Given the description of an element on the screen output the (x, y) to click on. 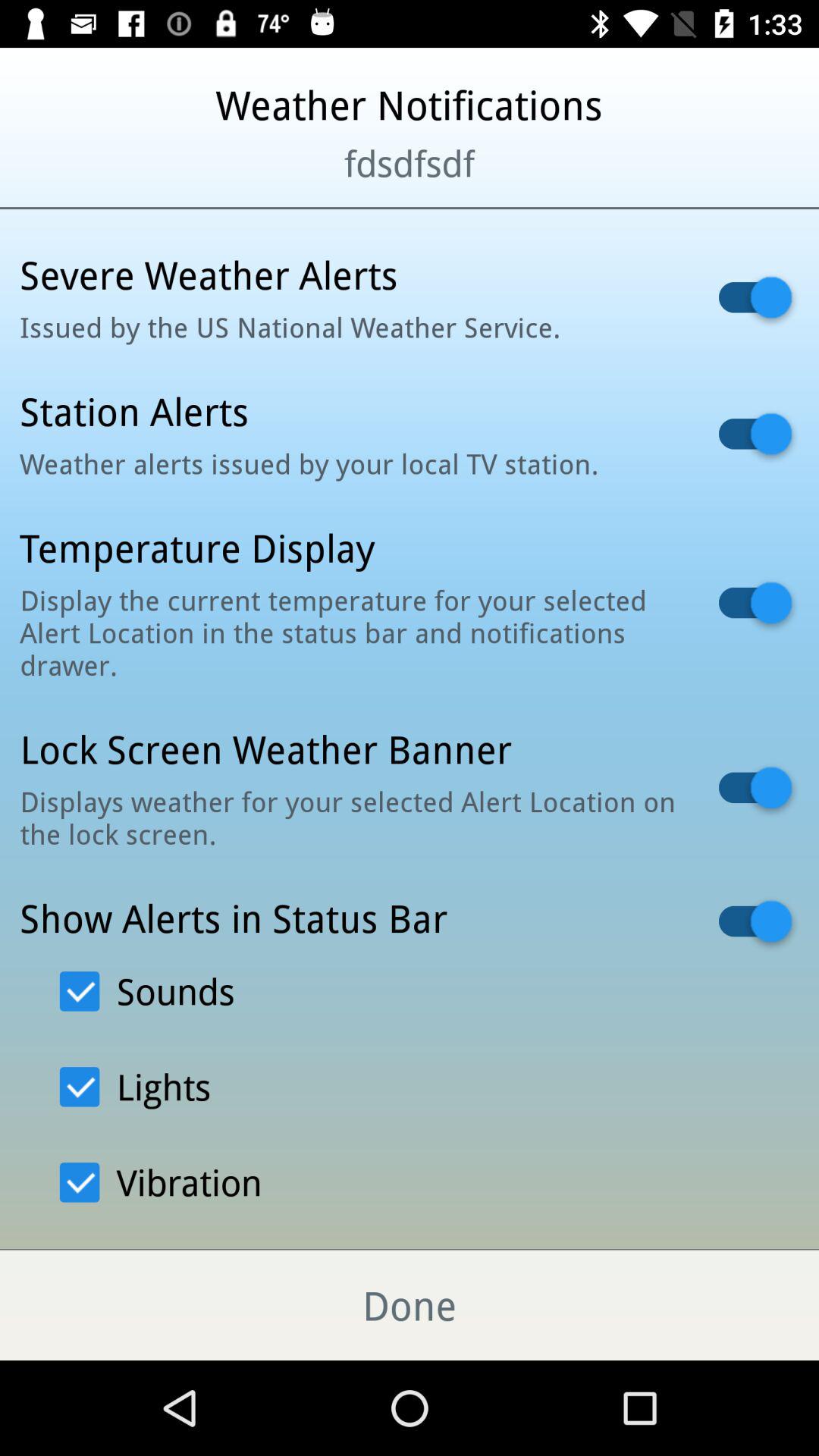
click the icon to the left of fdsdfsdf icon (99, 182)
